Given the description of an element on the screen output the (x, y) to click on. 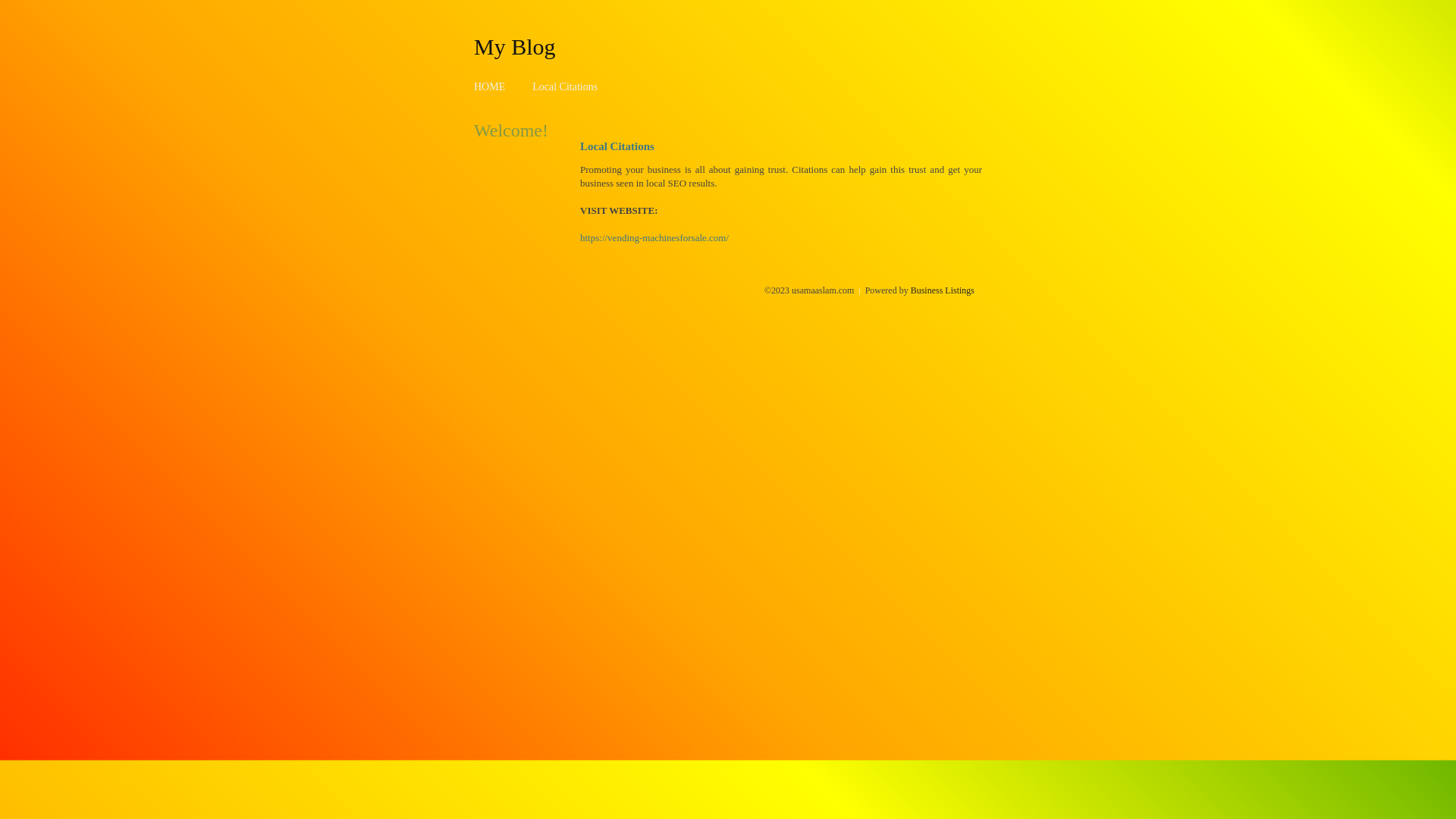
HOME Element type: text (489, 86)
My Blog Element type: text (514, 46)
Business Listings Element type: text (942, 290)
Local Citations Element type: text (564, 86)
https://vending-machinesforsale.com/ Element type: text (654, 237)
